Given the description of an element on the screen output the (x, y) to click on. 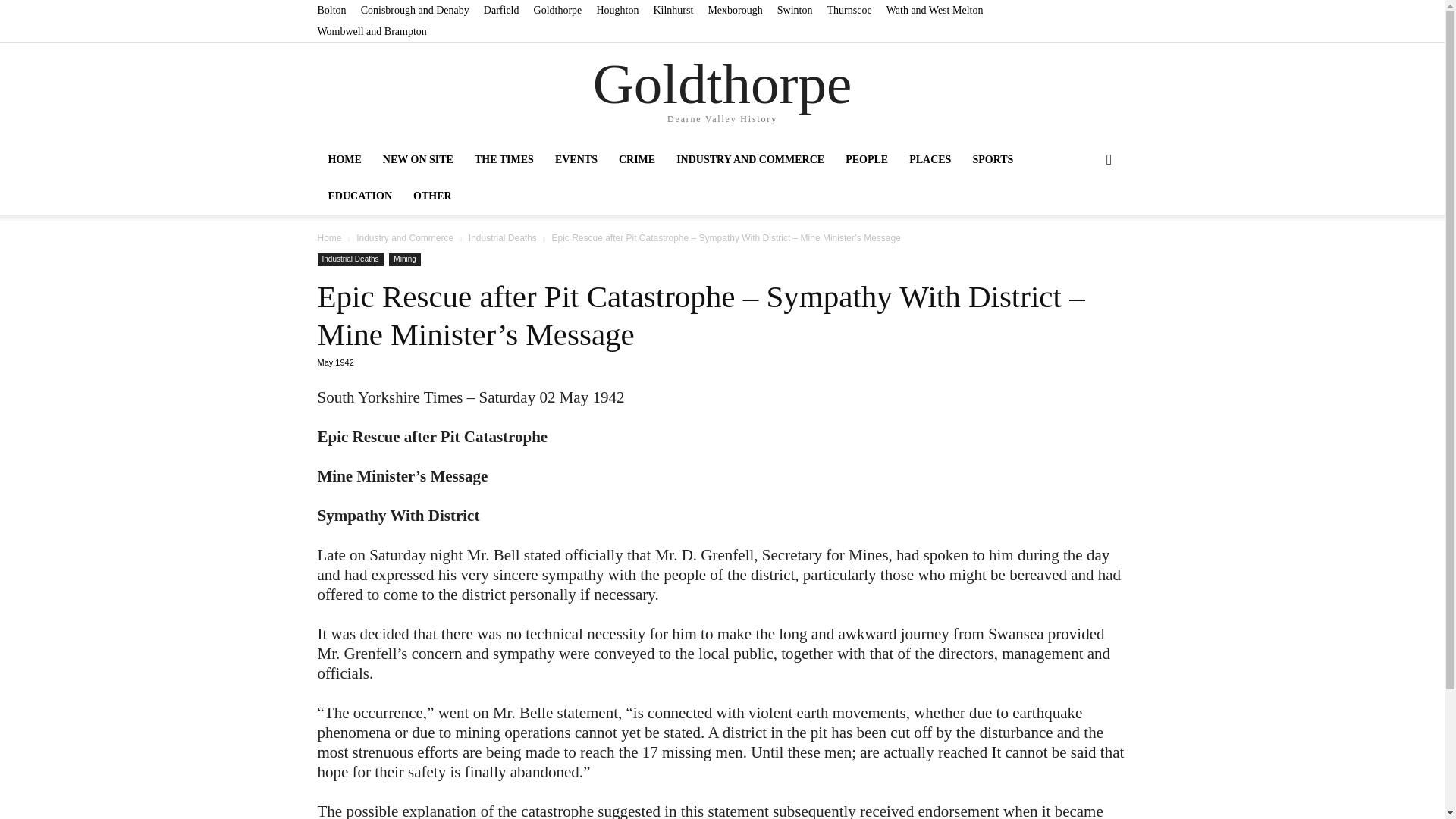
Conisbrough and Denaby (414, 9)
HOME (344, 159)
Goldthorpe (558, 9)
EVENTS (576, 159)
THE TIMES (504, 159)
PEOPLE (866, 159)
Mexborough (734, 9)
PLACES (929, 159)
NEW ON SITE (418, 159)
Wath and West Melton (935, 9)
